Given the description of an element on the screen output the (x, y) to click on. 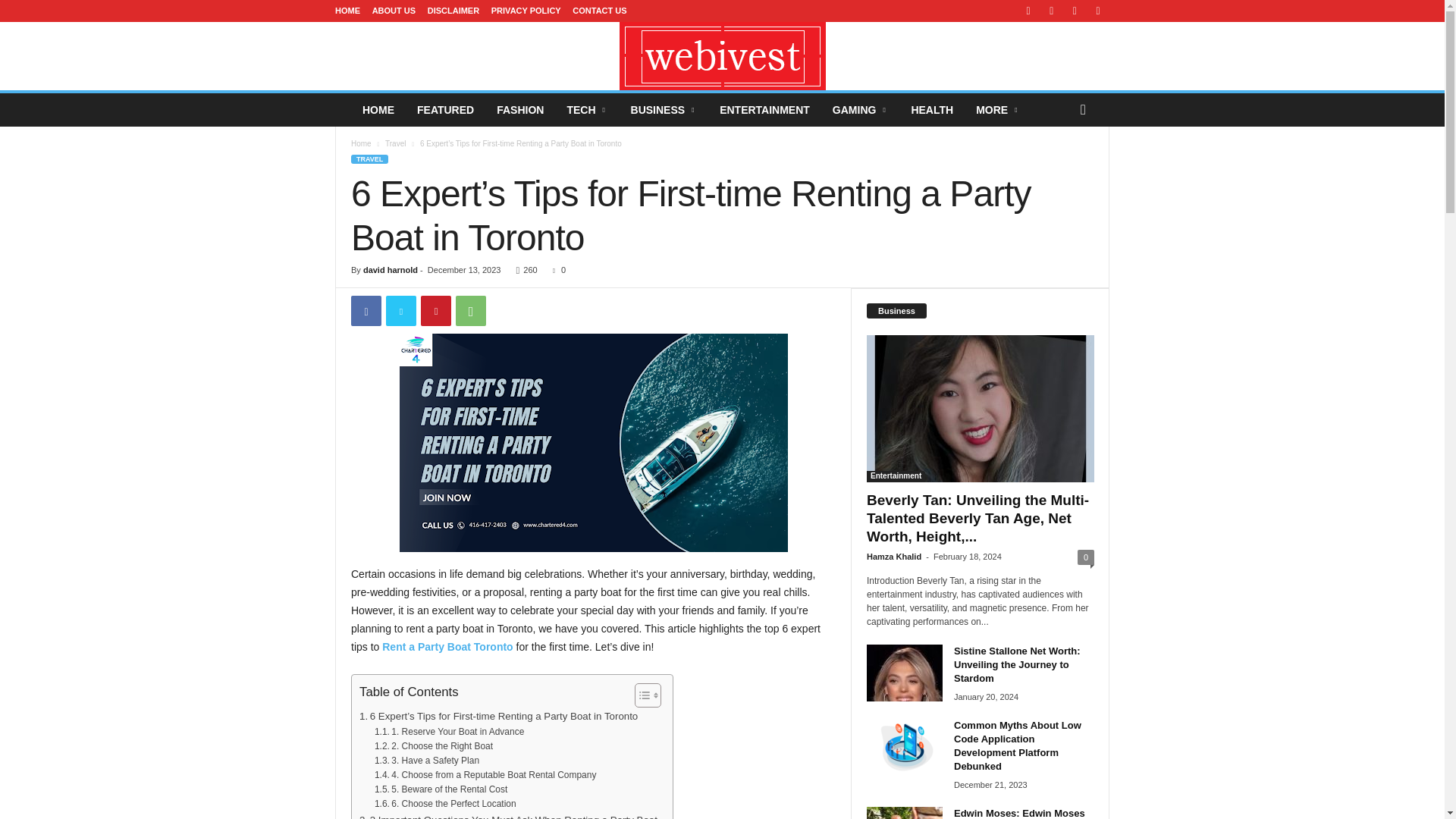
CONTACT US (599, 10)
View all posts in Travel (395, 143)
ABOUT US (393, 10)
HOME (378, 109)
Facebook (365, 310)
Pinterest (435, 310)
WhatsApp (470, 310)
PRIVACY POLICY (526, 10)
Twitter (400, 310)
DISCLAIMER (453, 10)
HOME (346, 10)
